Given the description of an element on the screen output the (x, y) to click on. 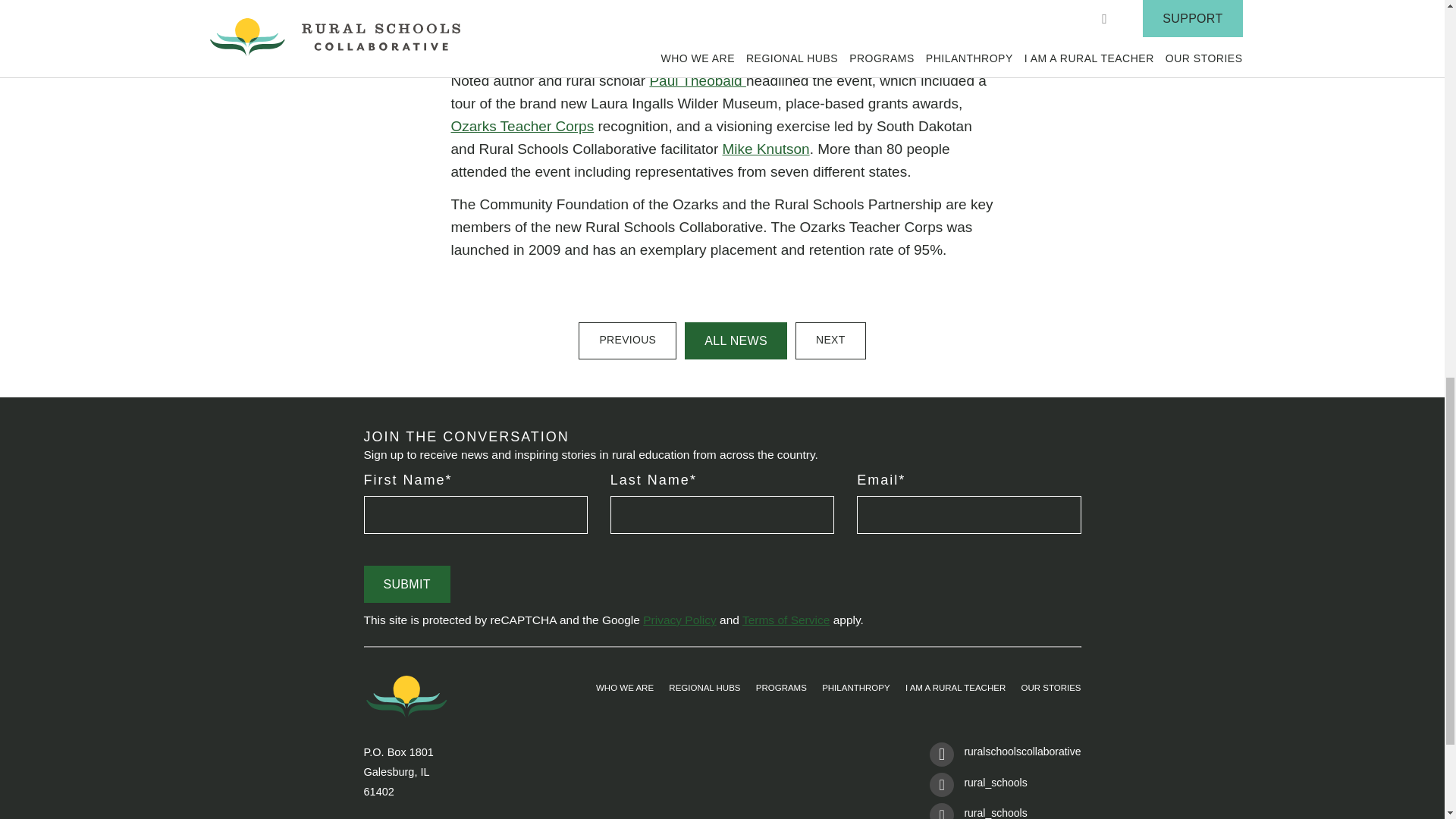
ruralschoolscollaborative (1005, 757)
Paul Theobald (697, 80)
Community Foundation of the Ozarks (686, 16)
Rural Schools Partnership (745, 25)
